Given the description of an element on the screen output the (x, y) to click on. 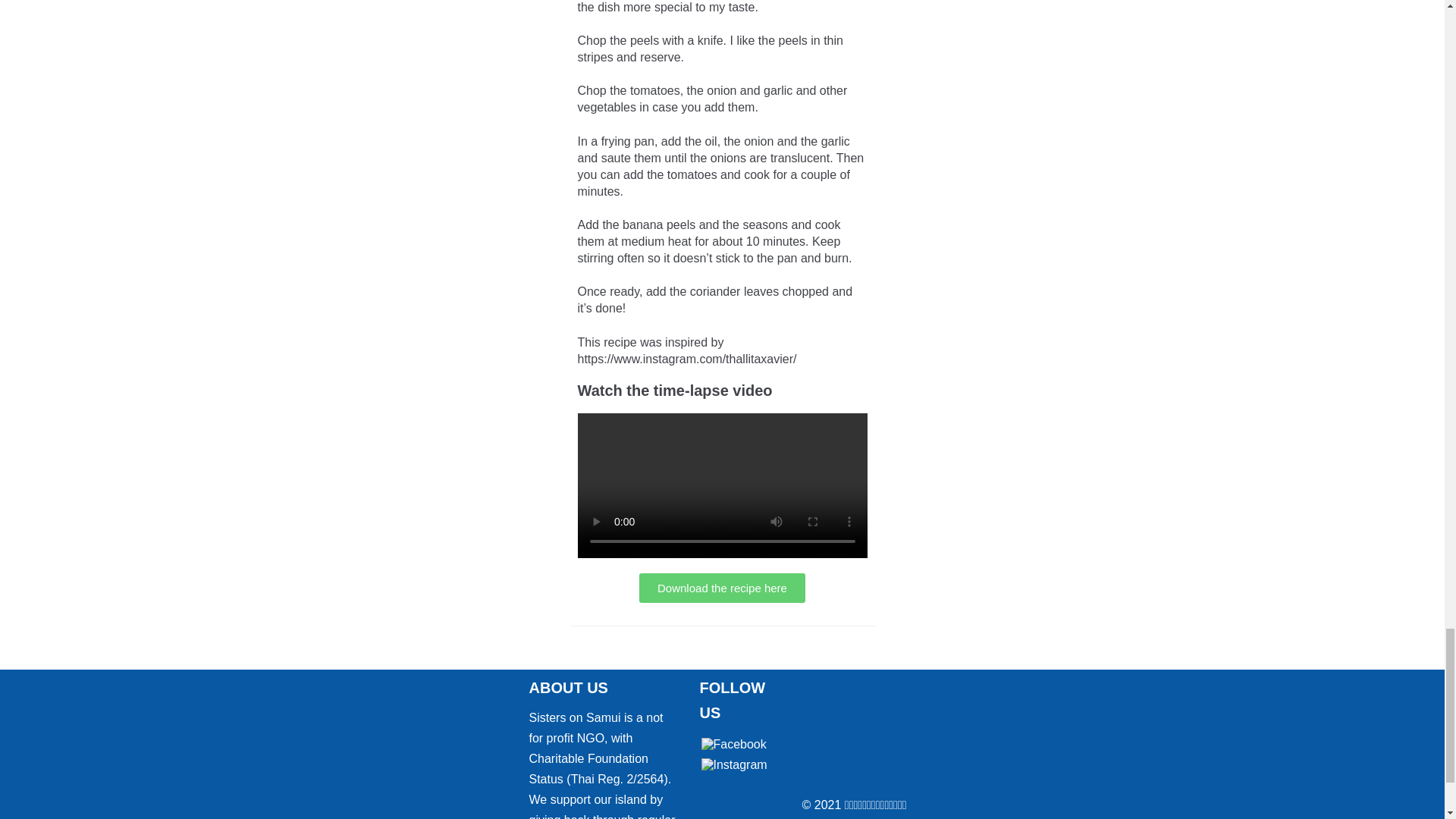
Instagram (733, 765)
Instagram (733, 764)
Facebook (732, 744)
Facebook (732, 744)
